Given the description of an element on the screen output the (x, y) to click on. 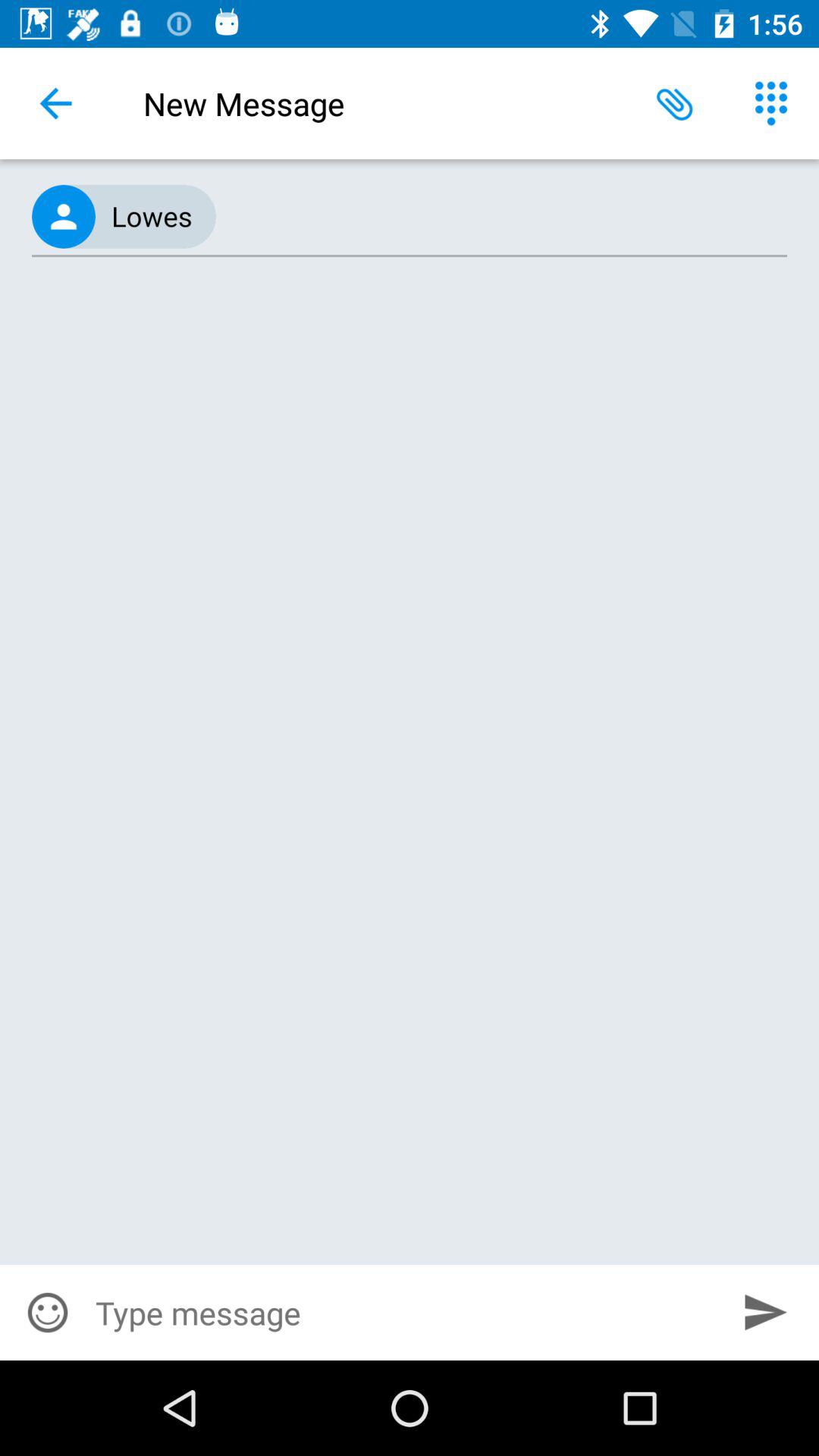
choose the icon above the (415) 486-8611,  icon (55, 103)
